Given the description of an element on the screen output the (x, y) to click on. 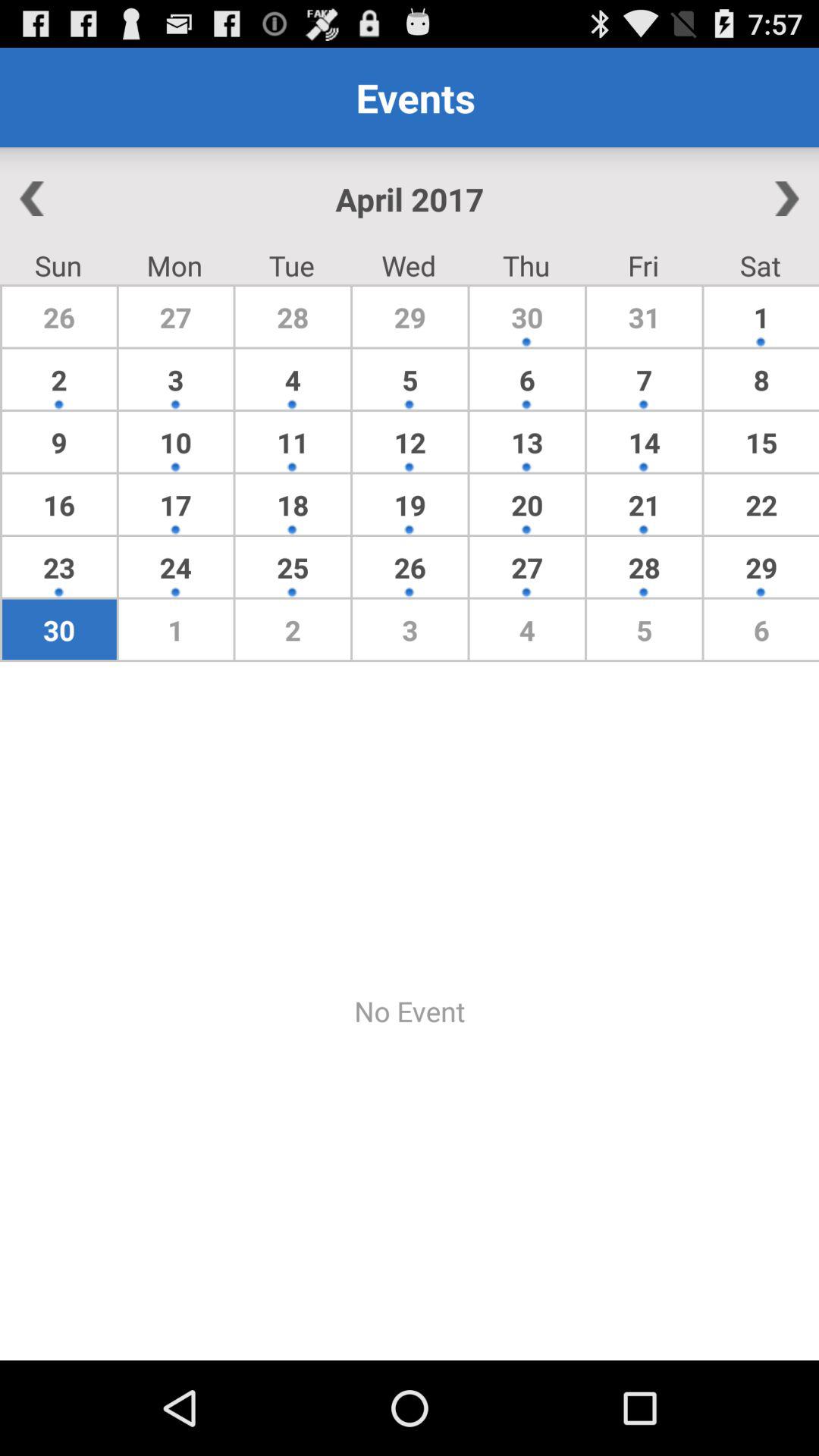
select item next to 3 (59, 441)
